Given the description of an element on the screen output the (x, y) to click on. 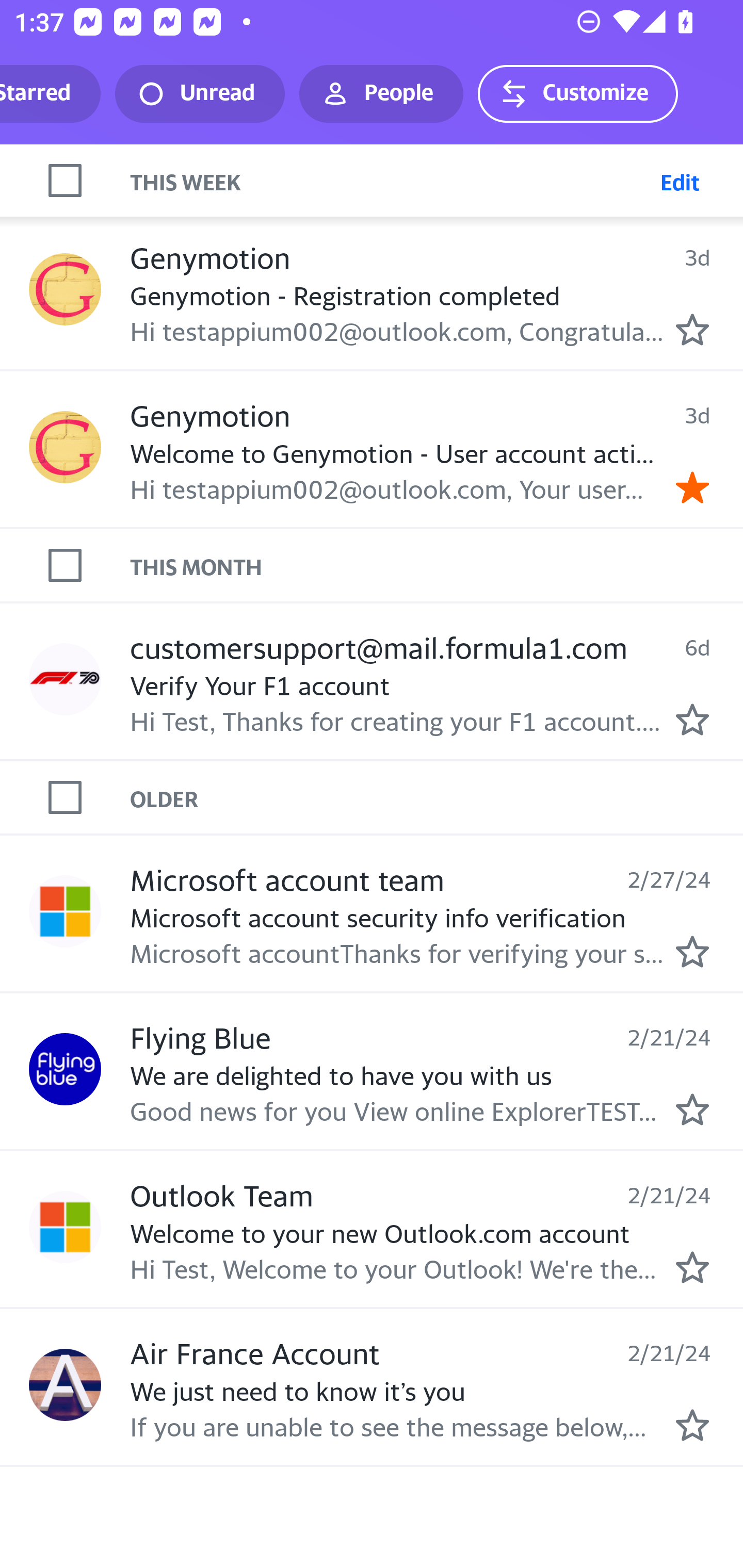
Unread (199, 93)
People (381, 93)
Customize (577, 93)
Profile
Genymotion (64, 290)
Mark as starred. (692, 330)
Profile
Genymotion (64, 446)
Remove star. (692, 486)
THIS MONTH (436, 565)
Profile
customersupport@mail.formula1.com (64, 678)
Mark as starred. (692, 718)
OLDER (436, 797)
Profile
Microsoft account team (64, 910)
Mark as starred. (692, 950)
Profile
Flying Blue (64, 1069)
Mark as starred. (692, 1109)
Profile
Outlook Team (64, 1227)
Mark as starred. (692, 1267)
Profile
Air France Account (64, 1384)
Mark as starred. (692, 1424)
